Given the description of an element on the screen output the (x, y) to click on. 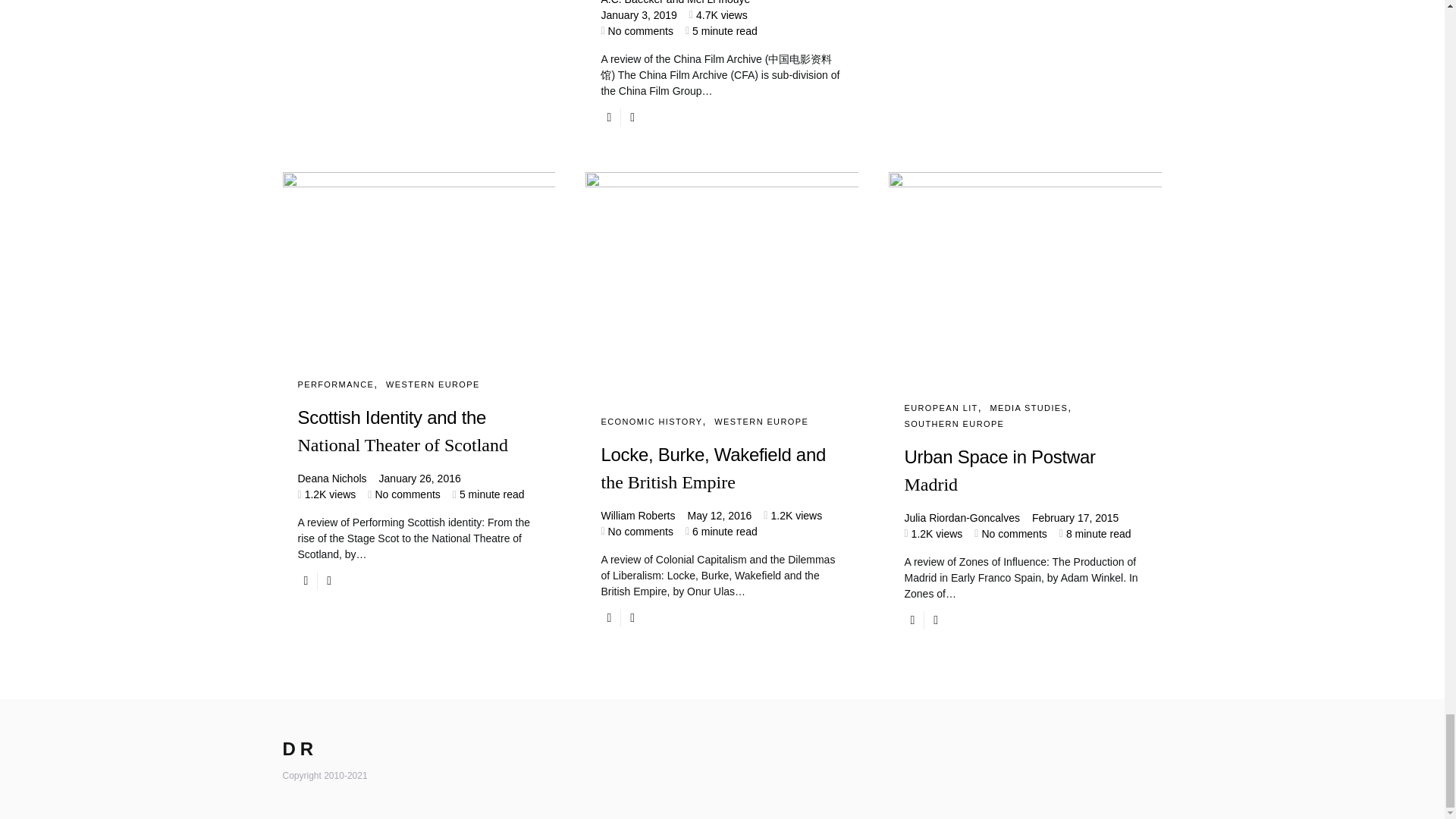
Urban Space in Postwar Madrid (1025, 483)
Scottish Identity and the National Theater of Scotland (418, 444)
Locke, Burke, Wakefield and the British Empire (721, 481)
View all posts by Julia Riordan-Goncalves (962, 517)
View all posts by A.C. Baecker and Mei Li Inouye (674, 3)
View all posts by William Roberts (637, 515)
View all posts by Deana Nichols (331, 478)
